Given the description of an element on the screen output the (x, y) to click on. 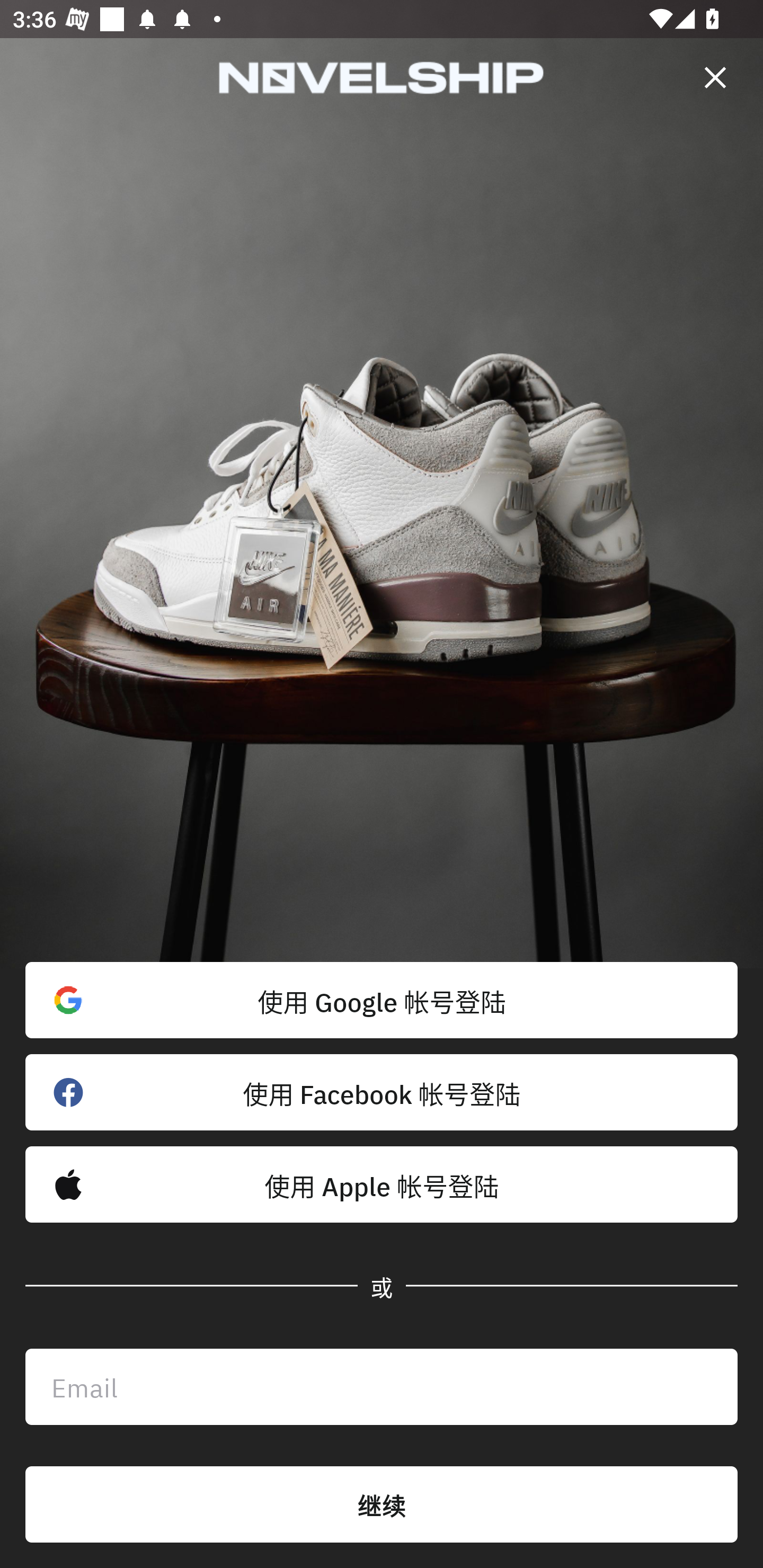
使用 Google 帐号登陆 (381, 1000)
使用 Facebook 帐号登陆 󰈌 (381, 1091)
 使用 Apple 帐号登陆 (381, 1184)
Email (381, 1386)
继续 (381, 1504)
